Given the description of an element on the screen output the (x, y) to click on. 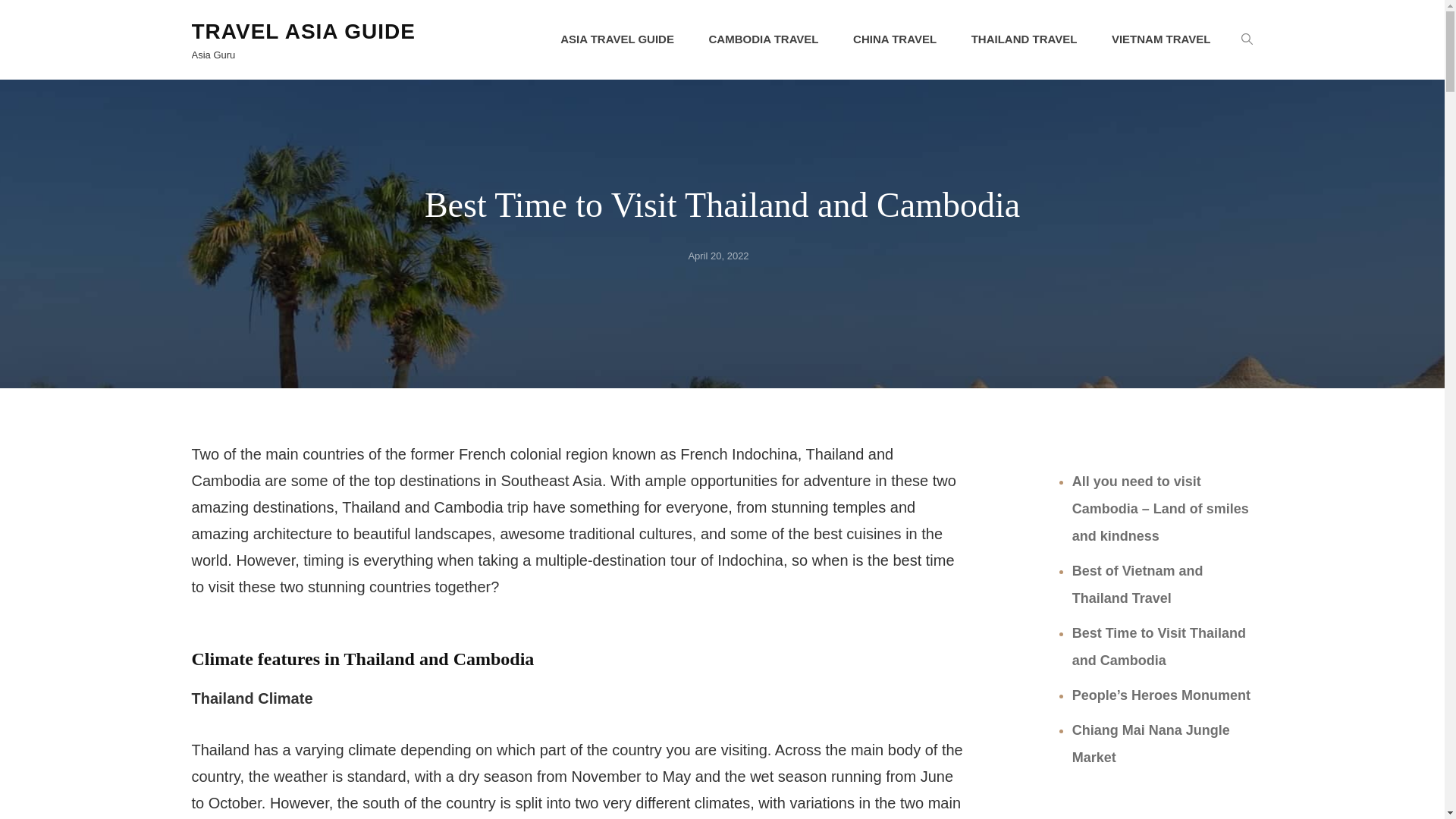
ASIA TRAVEL GUIDE (616, 39)
CAMBODIA TRAVEL (764, 39)
Chiang Mai Nana Jungle Market (1150, 743)
TRAVEL ASIA GUIDE (302, 31)
Best Time to Visit Thailand and Cambodia (1158, 646)
April 20, 2022 (717, 255)
Best of Vietnam and Thailand Travel (1137, 584)
THAILAND TRAVEL (1024, 39)
CHINA TRAVEL (895, 39)
VIETNAM TRAVEL (1160, 39)
